Given the description of an element on the screen output the (x, y) to click on. 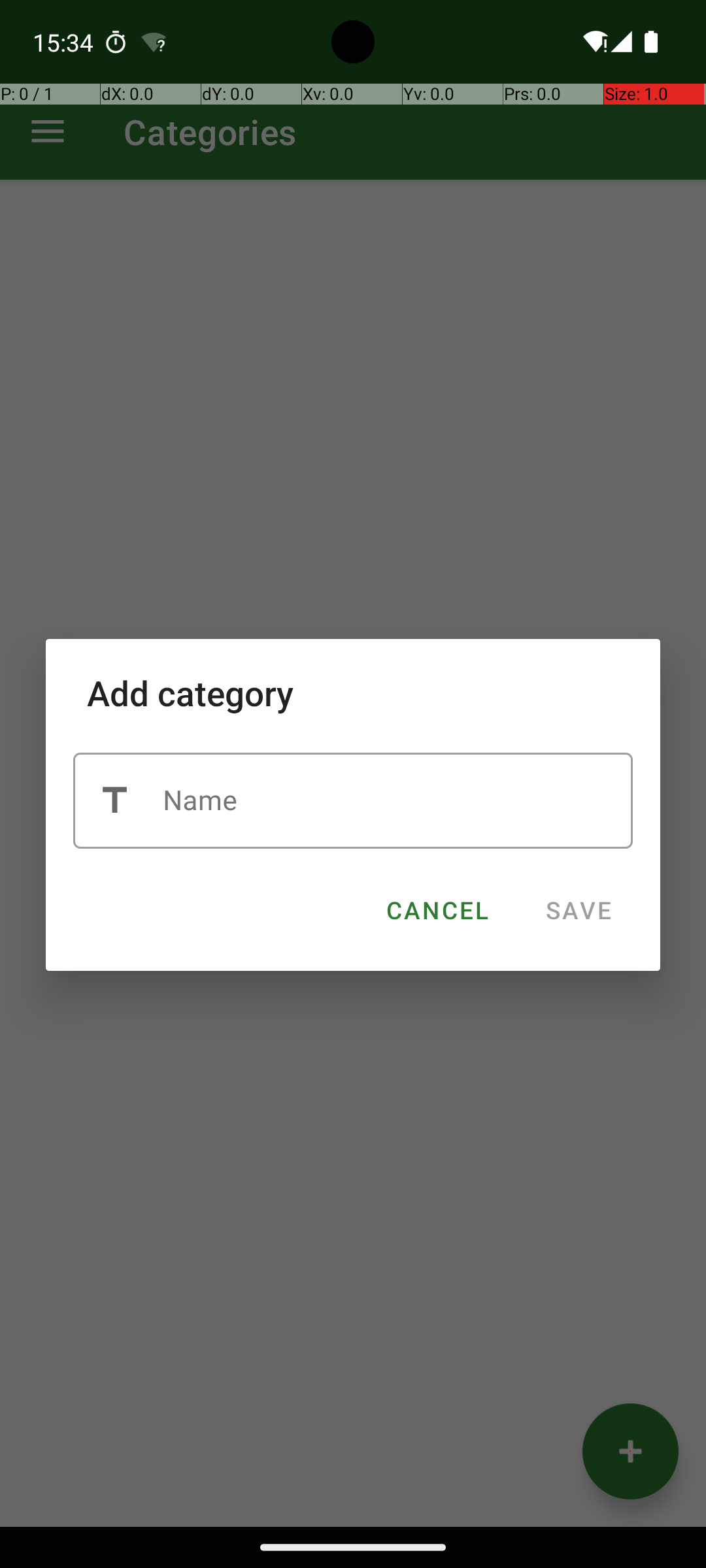
Add category Element type: android.widget.TextView (352, 692)
